Given the description of an element on the screen output the (x, y) to click on. 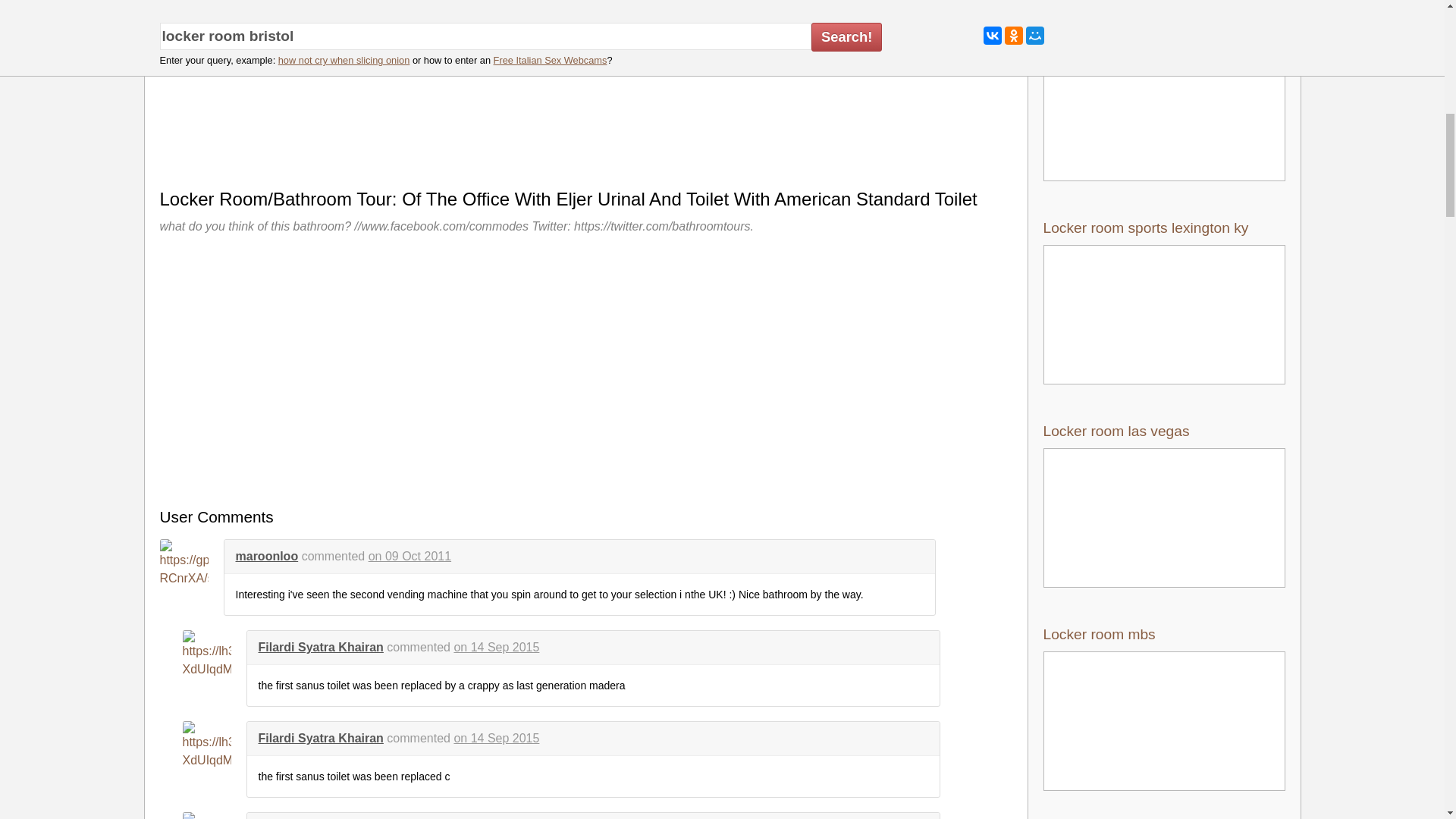
Locker room sports lexington ky (1164, 301)
Filardi Syatra Khairan (319, 646)
Filardi Syatra Khairan (319, 738)
Locker room lex ky (1164, 97)
on 14 Sep 2015 (495, 738)
on 09 Oct 2011 (409, 555)
Locker room las vegas (1164, 505)
on 14 Sep 2015 (495, 646)
Locker room mbs (1164, 708)
maroonloo (266, 555)
